Given the description of an element on the screen output the (x, y) to click on. 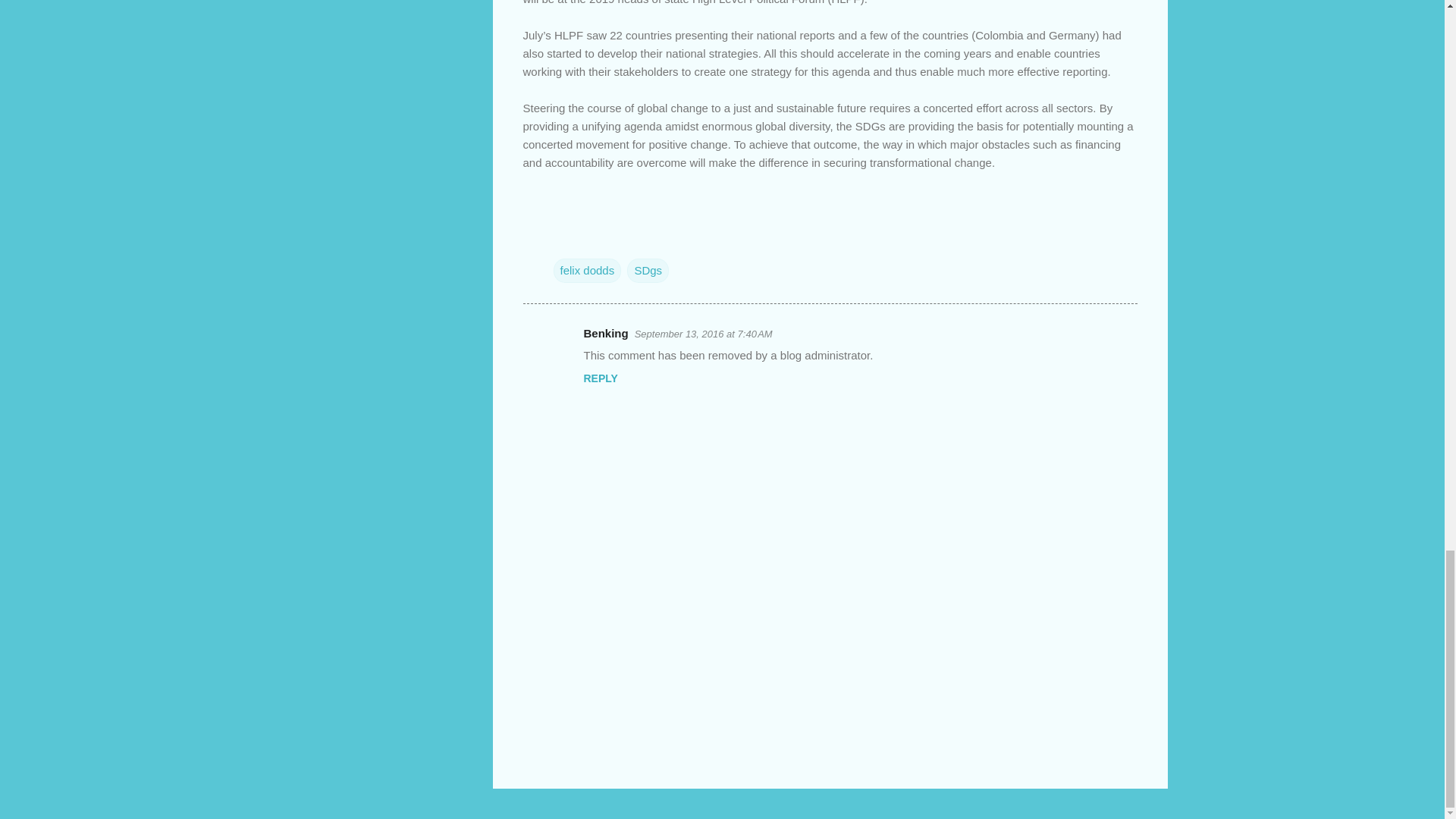
REPLY (600, 378)
SDgs (647, 269)
felix dodds (587, 269)
Benking (605, 332)
